Given the description of an element on the screen output the (x, y) to click on. 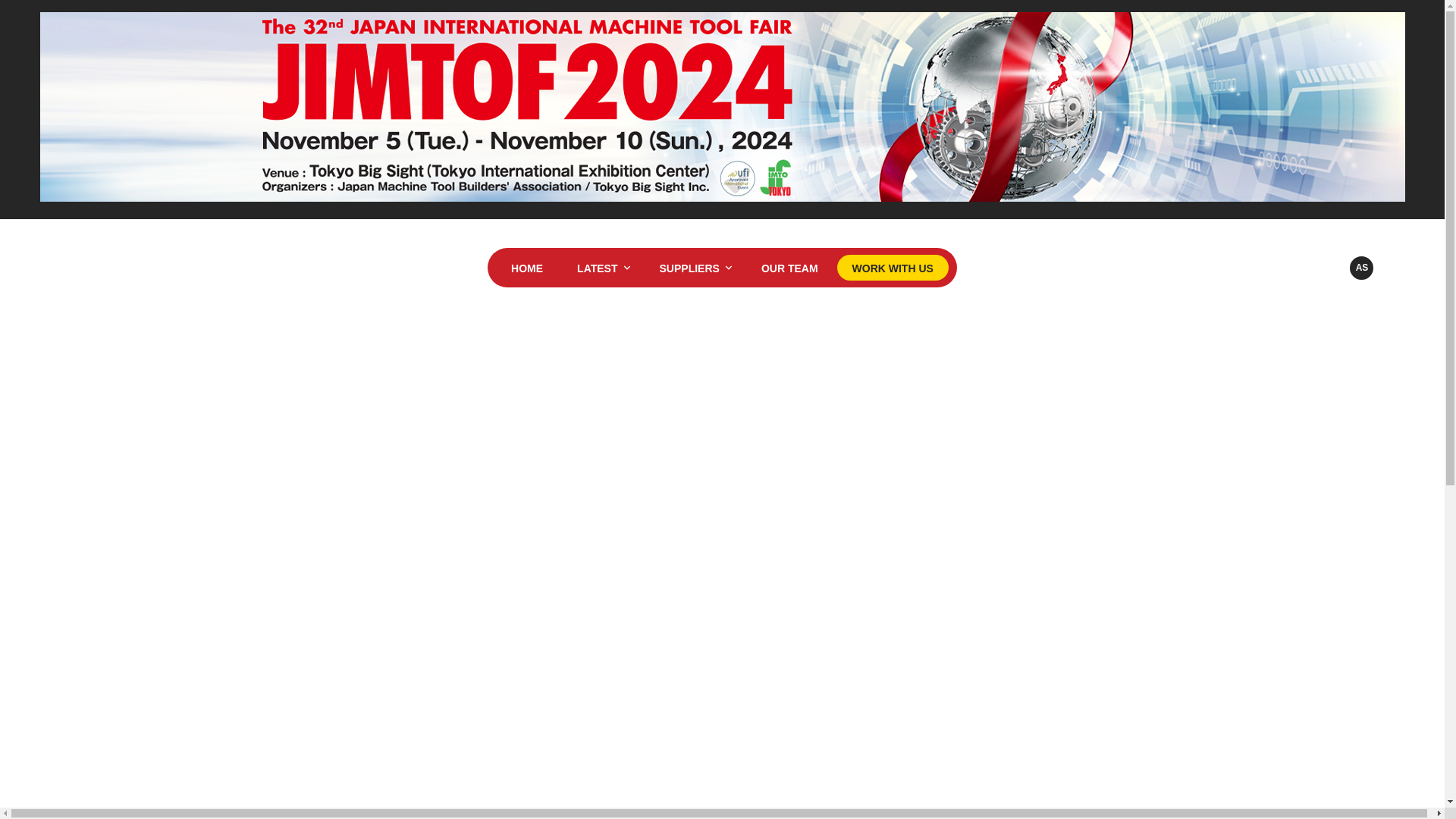
HOME (526, 267)
WORK WITH US (893, 267)
SUPPLIERS (693, 267)
OUR TEAM (788, 267)
Analytics (1316, 267)
LATEST (601, 267)
Analytics (1316, 267)
Home (147, 267)
SUBMIT (1145, 817)
Search (1270, 267)
Search (1270, 267)
